Given the description of an element on the screen output the (x, y) to click on. 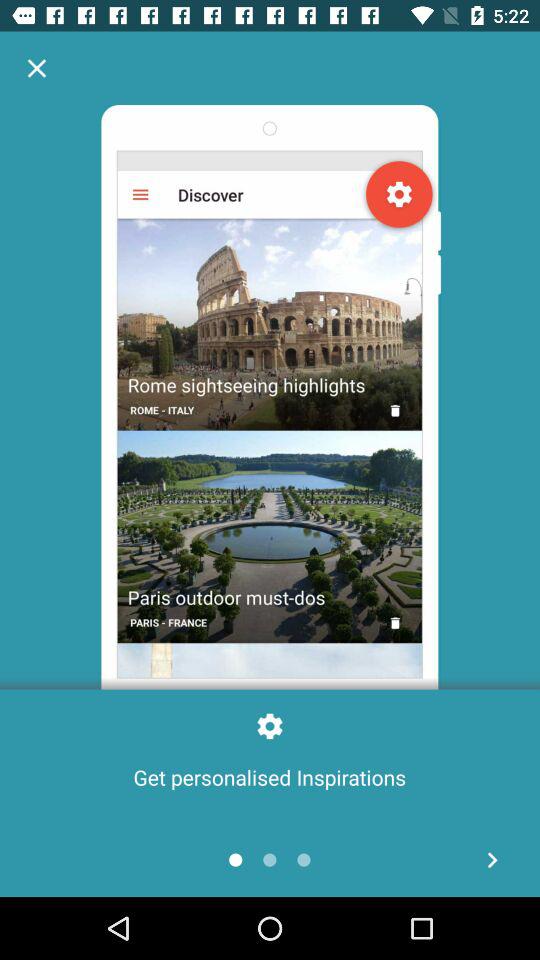
close pop up (36, 68)
